Given the description of an element on the screen output the (x, y) to click on. 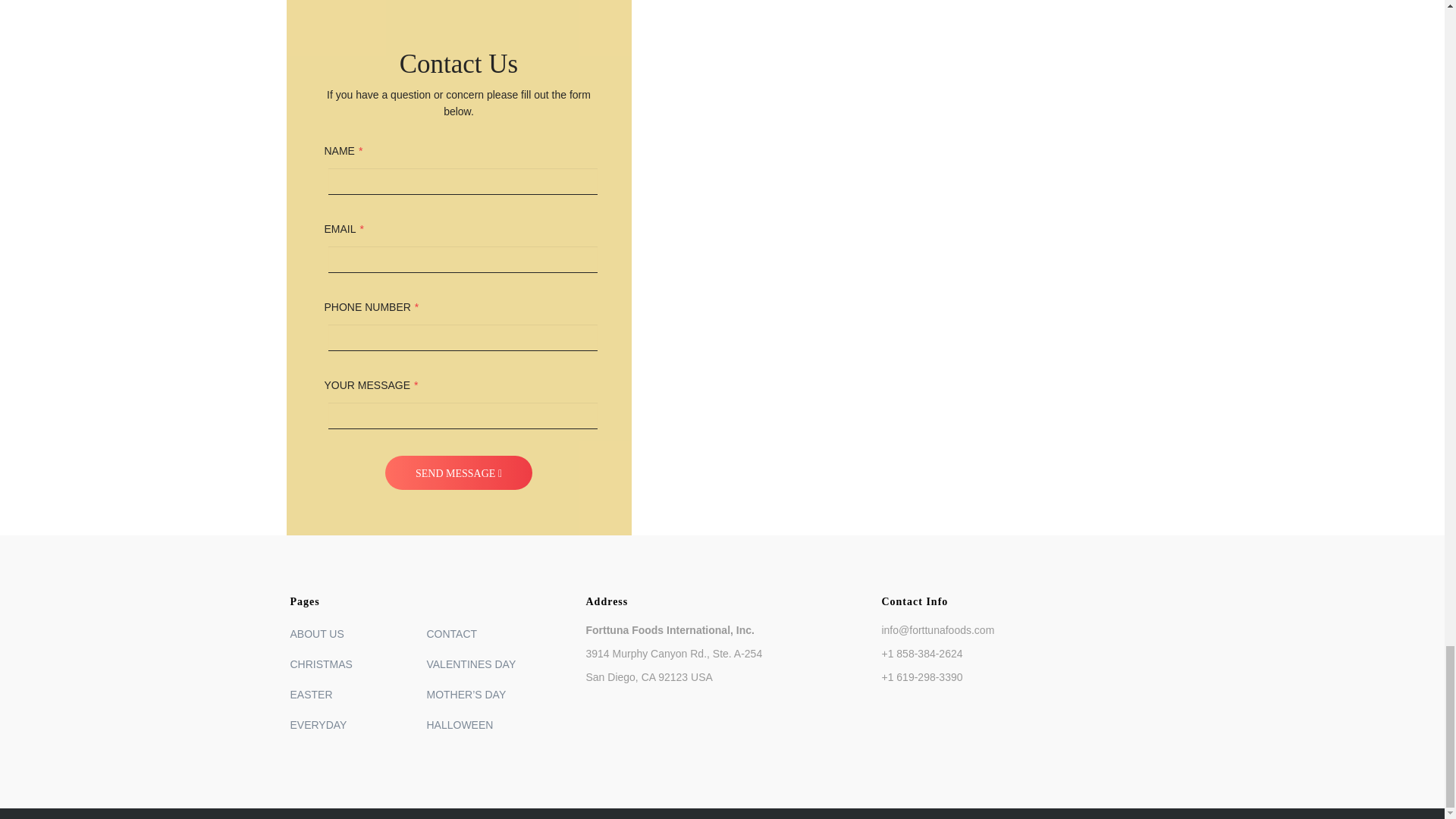
ABOUT US (357, 633)
VALENTINES DAY (494, 663)
EASTER (357, 694)
CONTACT (494, 633)
CHRISTMAS (357, 663)
